Given the description of an element on the screen output the (x, y) to click on. 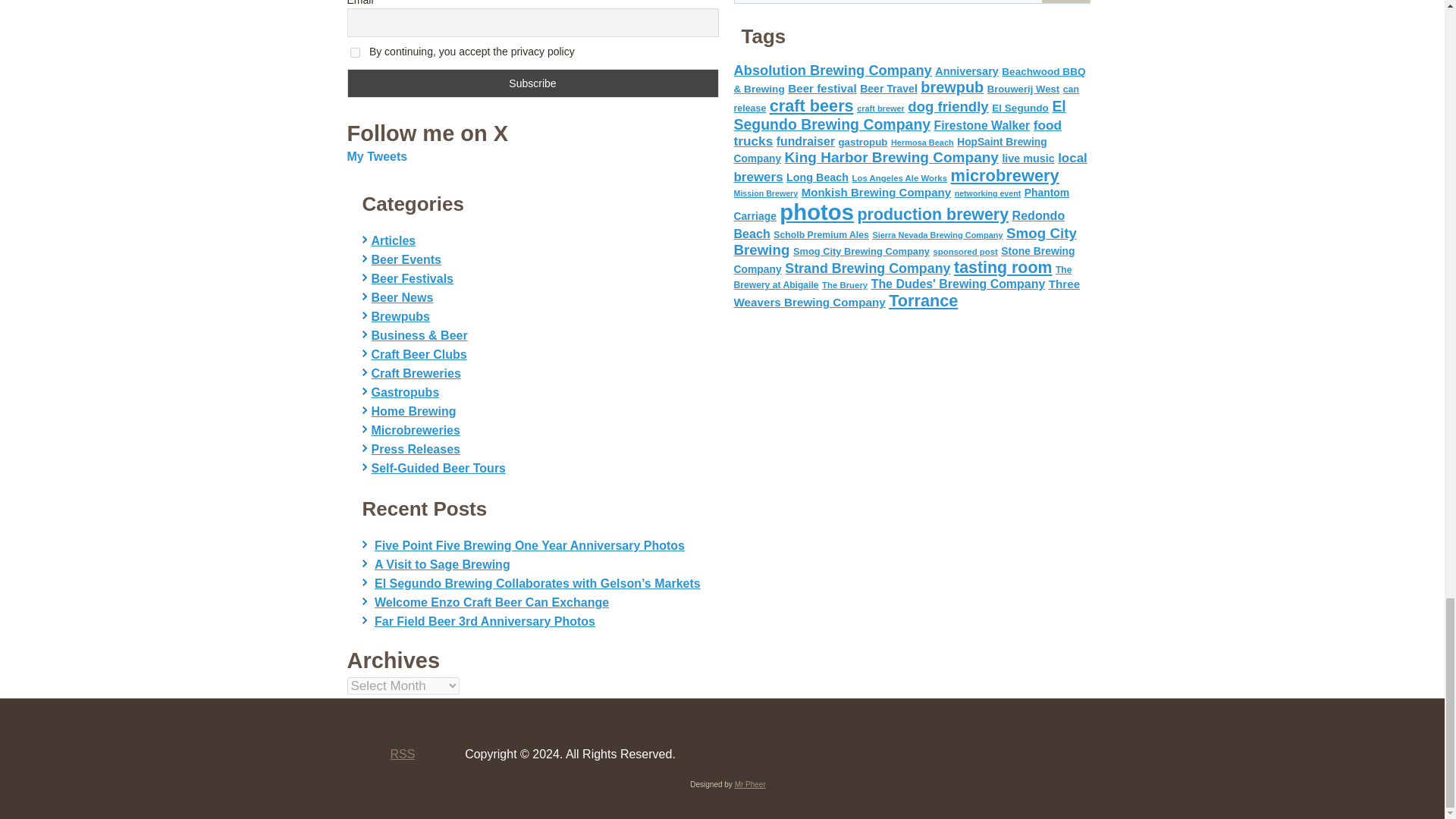
Subscribe (533, 82)
Search (1065, 1)
Search (1065, 1)
on (354, 52)
